Given the description of an element on the screen output the (x, y) to click on. 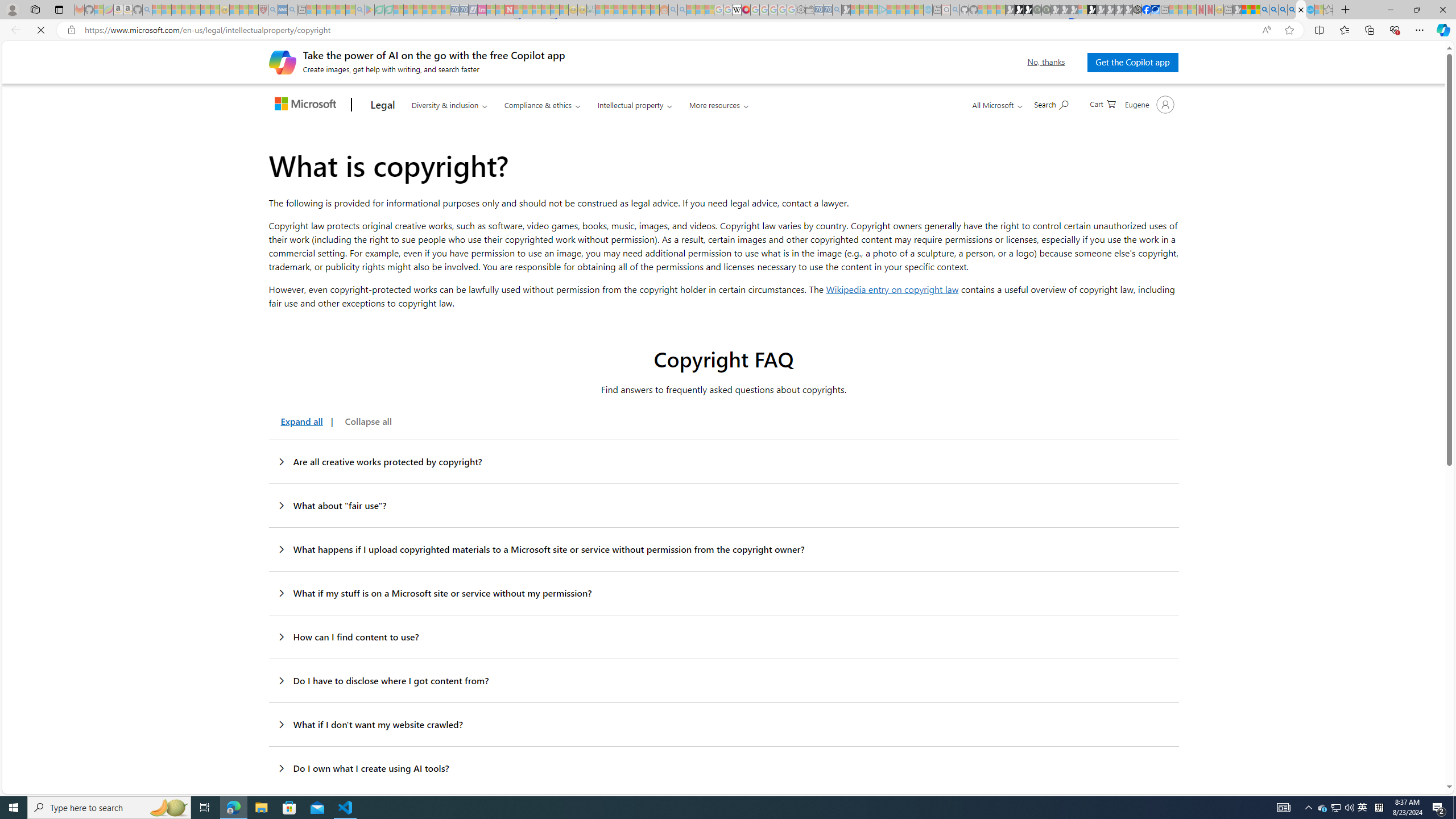
Sign in to your account - Sleeping (1082, 9)
Pets - MSN - Sleeping (340, 9)
Target page - Wikipedia (736, 9)
